Given the description of an element on the screen output the (x, y) to click on. 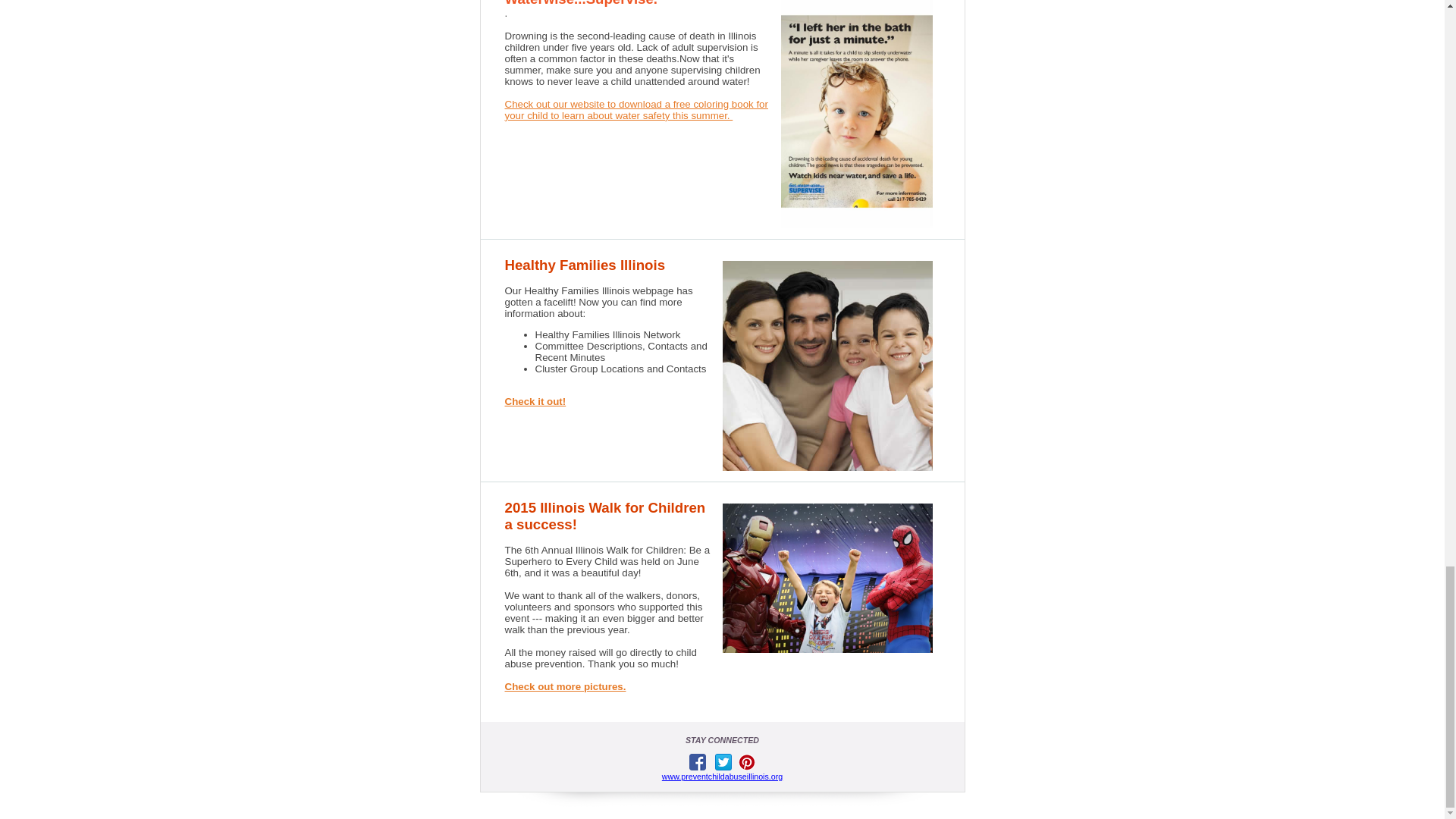
Check out more pictures. (565, 686)
www.preventchildabuseillinois.org (722, 776)
Find us on Pinterest (746, 761)
Follow us on Twitter (723, 761)
Like us on Facebook (697, 761)
Check it out! (535, 401)
